Given the description of an element on the screen output the (x, y) to click on. 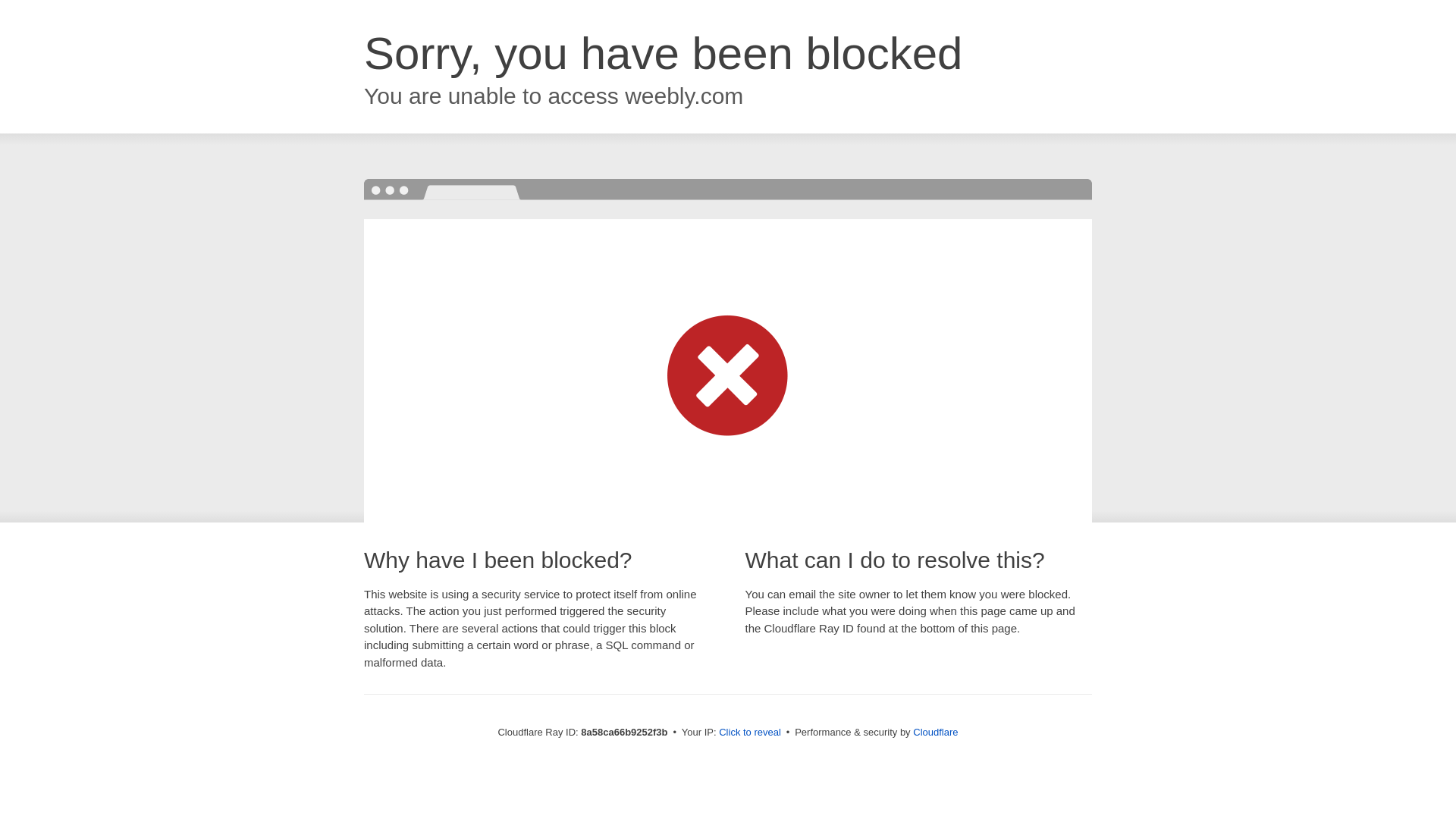
Cloudflare (935, 731)
Click to reveal (749, 732)
